Given the description of an element on the screen output the (x, y) to click on. 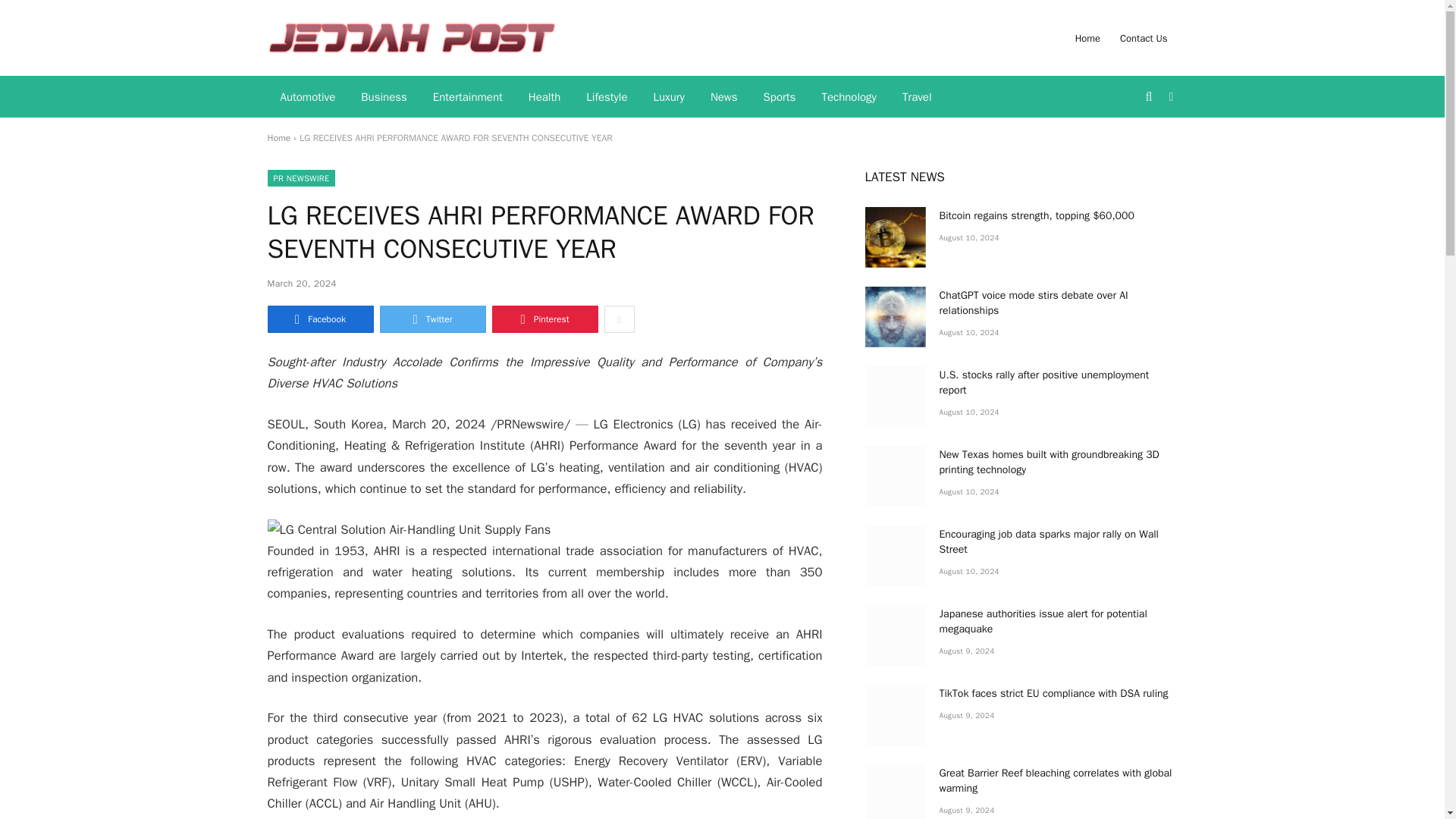
Contact Us (1143, 38)
Facebook (319, 318)
Automotive (306, 96)
Share on Pinterest (544, 318)
Luxury (668, 96)
Business (383, 96)
Entertainment (467, 96)
Switch to Dark Design - easier on eyes. (1169, 96)
Lifestyle (606, 96)
PR NEWSWIRE (300, 177)
